Given the description of an element on the screen output the (x, y) to click on. 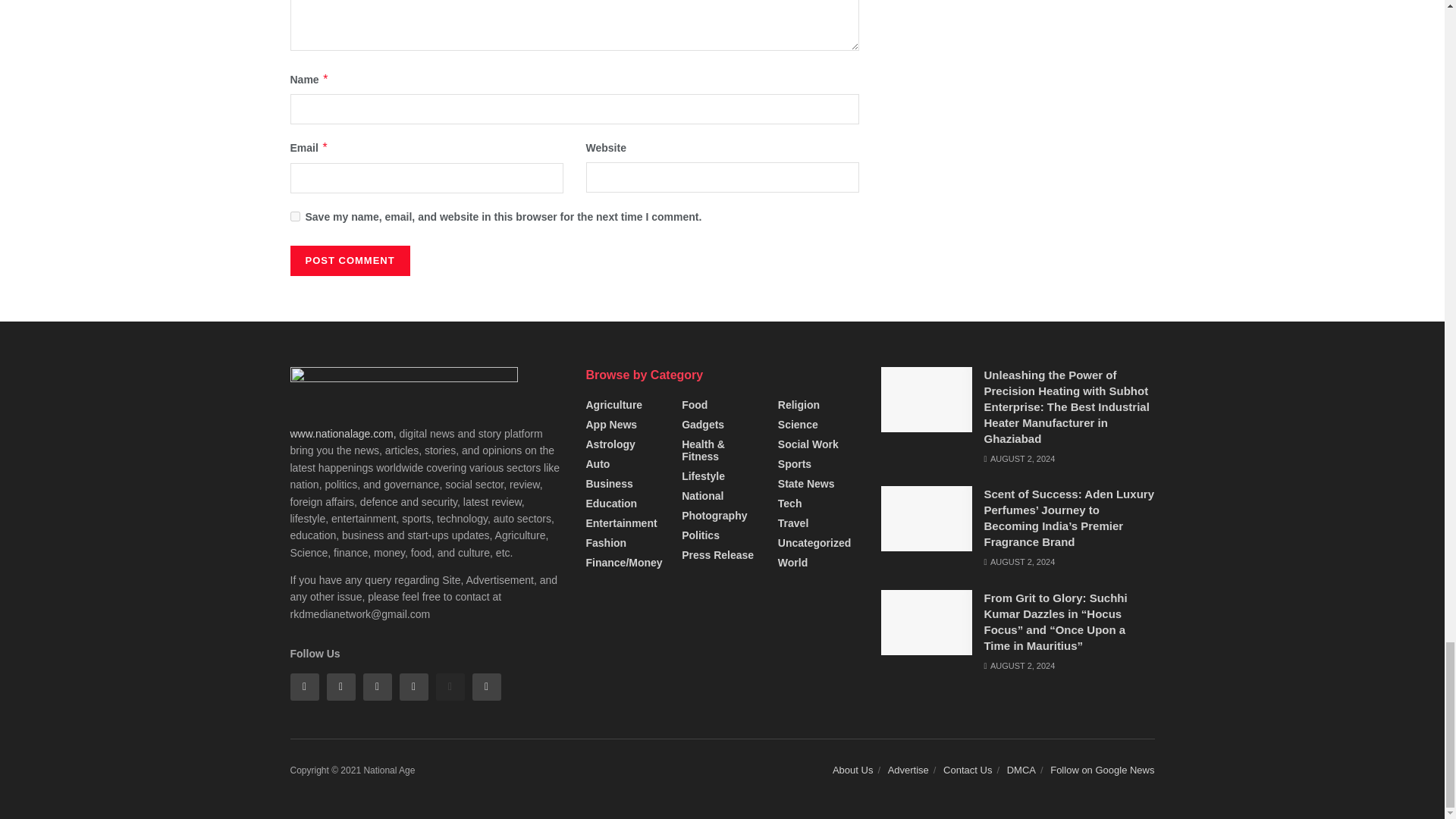
yes (294, 216)
Post Comment (349, 260)
